Given the description of an element on the screen output the (x, y) to click on. 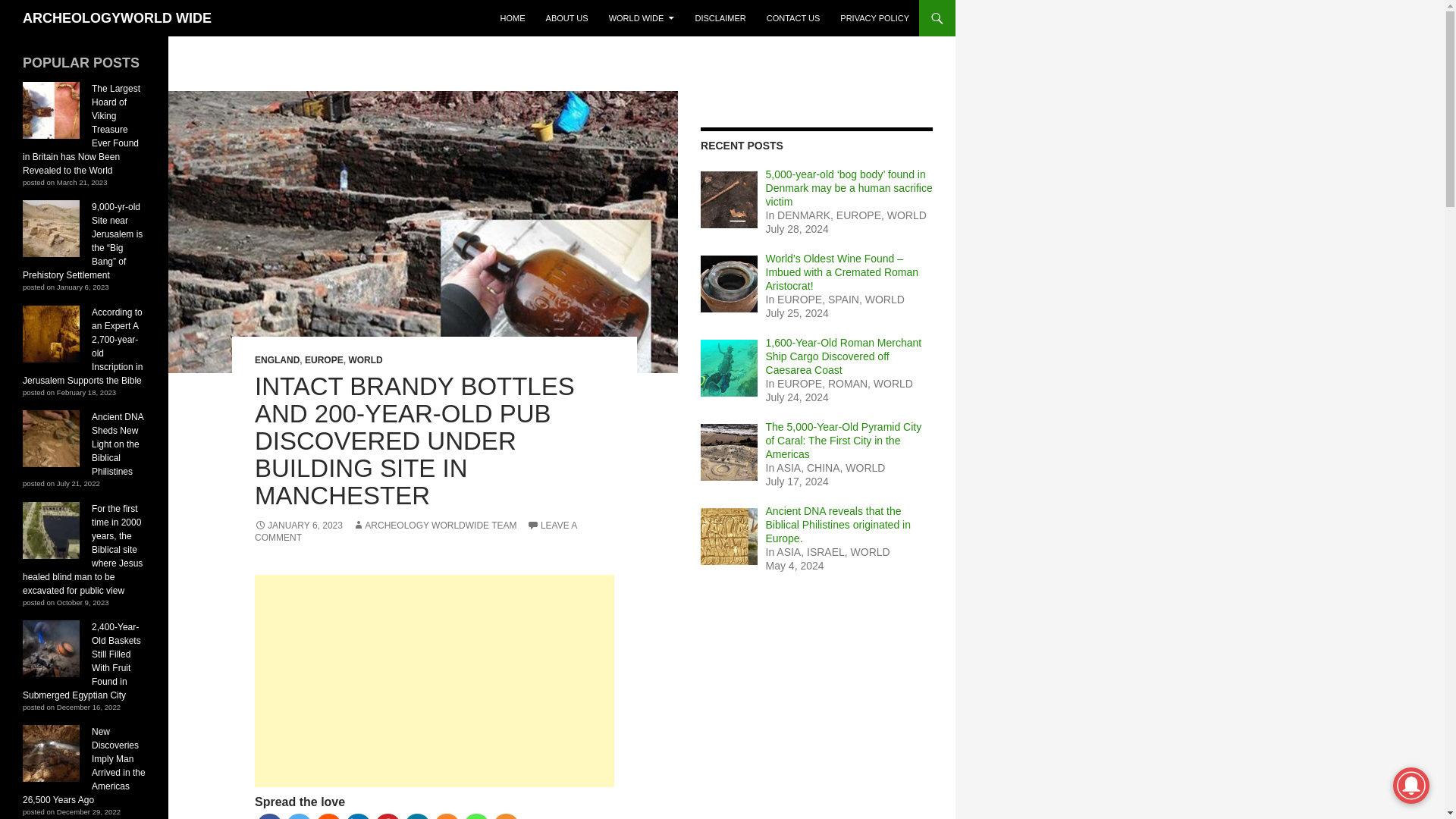
Mix (446, 816)
ARCHEOLOGYWORLD WIDE (117, 18)
More (506, 816)
WORLD WIDE (641, 18)
MeWe (417, 816)
Reddit (328, 816)
Facebook (269, 816)
HOME (512, 18)
Pinterest (387, 816)
Whatsapp (476, 816)
Linkedin (358, 816)
ABOUT US (566, 18)
Twitter (299, 816)
Advertisement (434, 680)
